Given the description of an element on the screen output the (x, y) to click on. 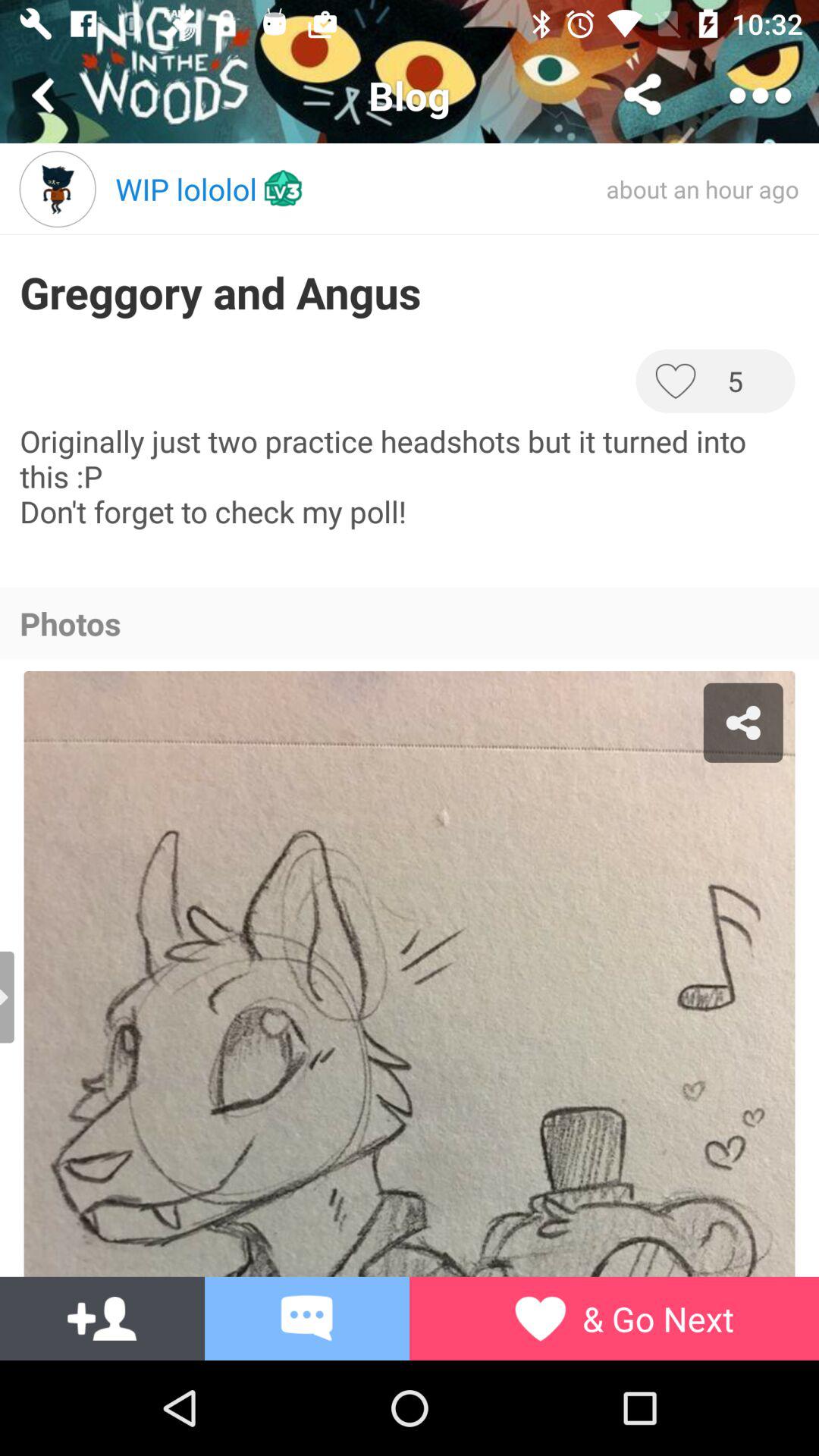
click to send friend request or follow (102, 1318)
click on the image which is on the left side of wip lololol (57, 189)
select the symbol which is to the immediate left of  go next (539, 1317)
